Given the description of an element on the screen output the (x, y) to click on. 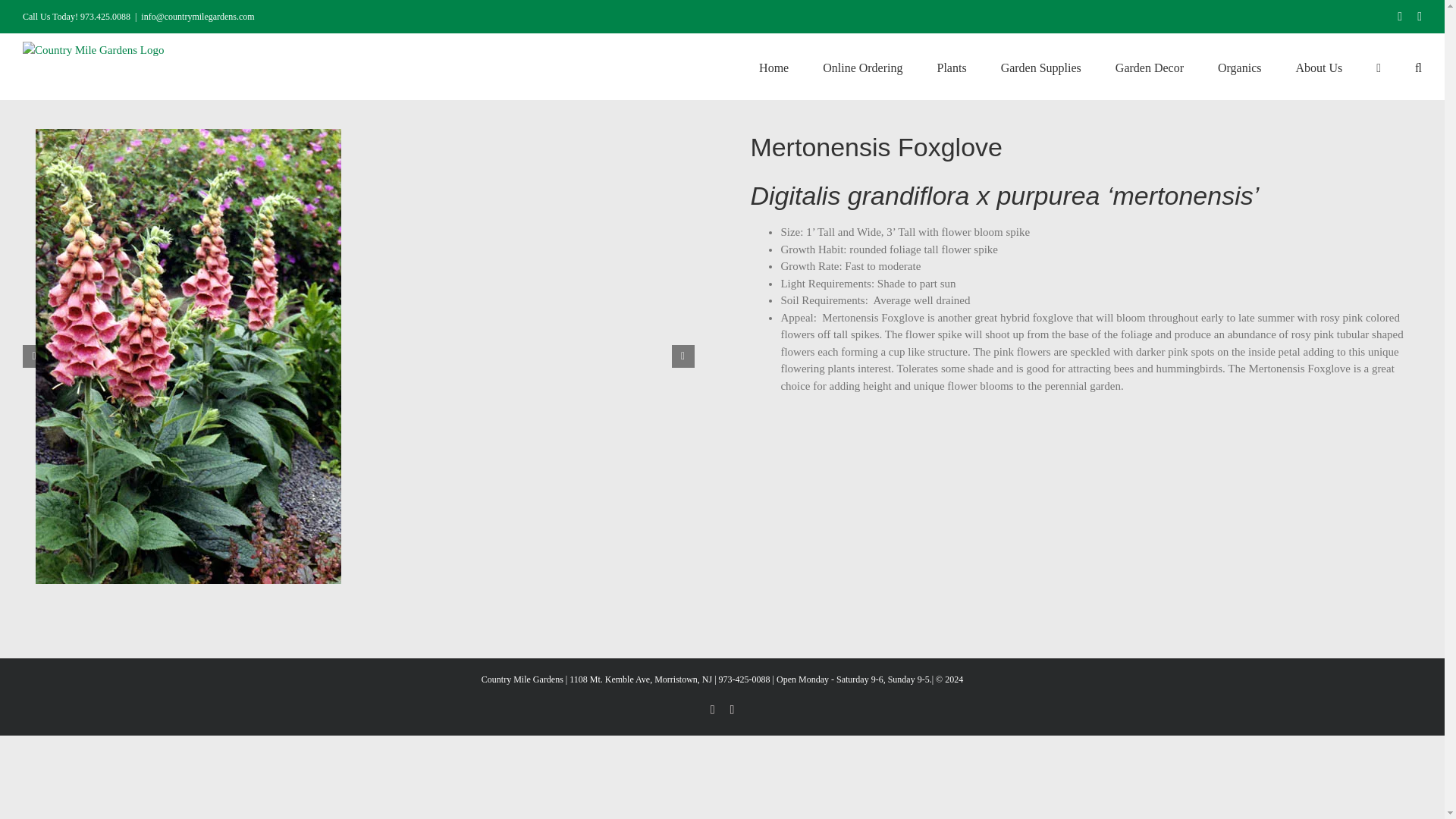
Garden Supplies (1041, 66)
Online Ordering (862, 66)
973.425.0088 (105, 16)
Garden Decor (1149, 66)
